Given the description of an element on the screen output the (x, y) to click on. 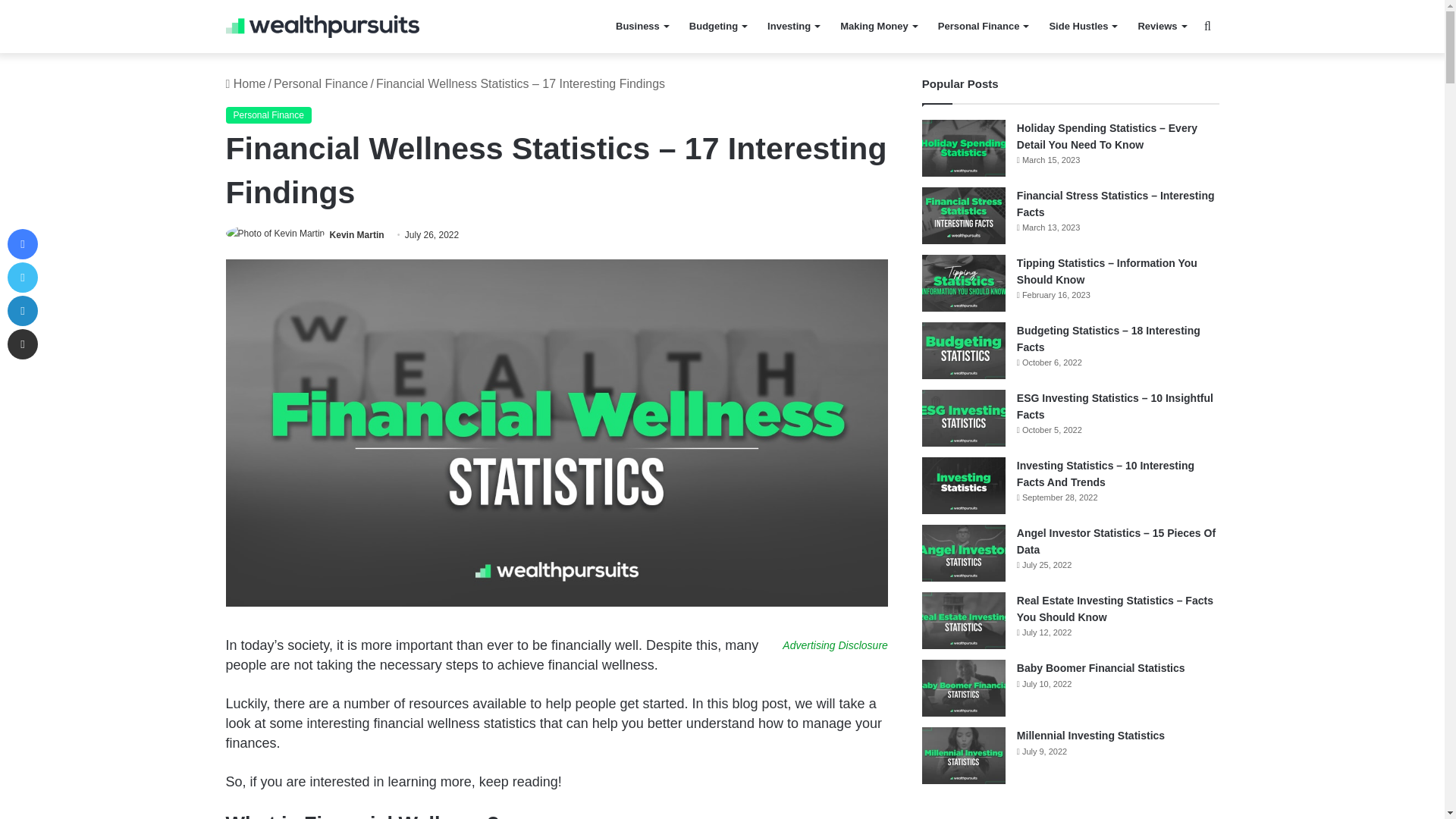
Facebook (22, 244)
Making Money (878, 26)
Wealth Pursuits (322, 26)
Budgeting (717, 26)
Investing (793, 26)
Personal Finance (983, 26)
Twitter (22, 277)
Share via Email (22, 344)
Business (641, 26)
Kevin Martin (357, 235)
LinkedIn (22, 310)
